Given the description of an element on the screen output the (x, y) to click on. 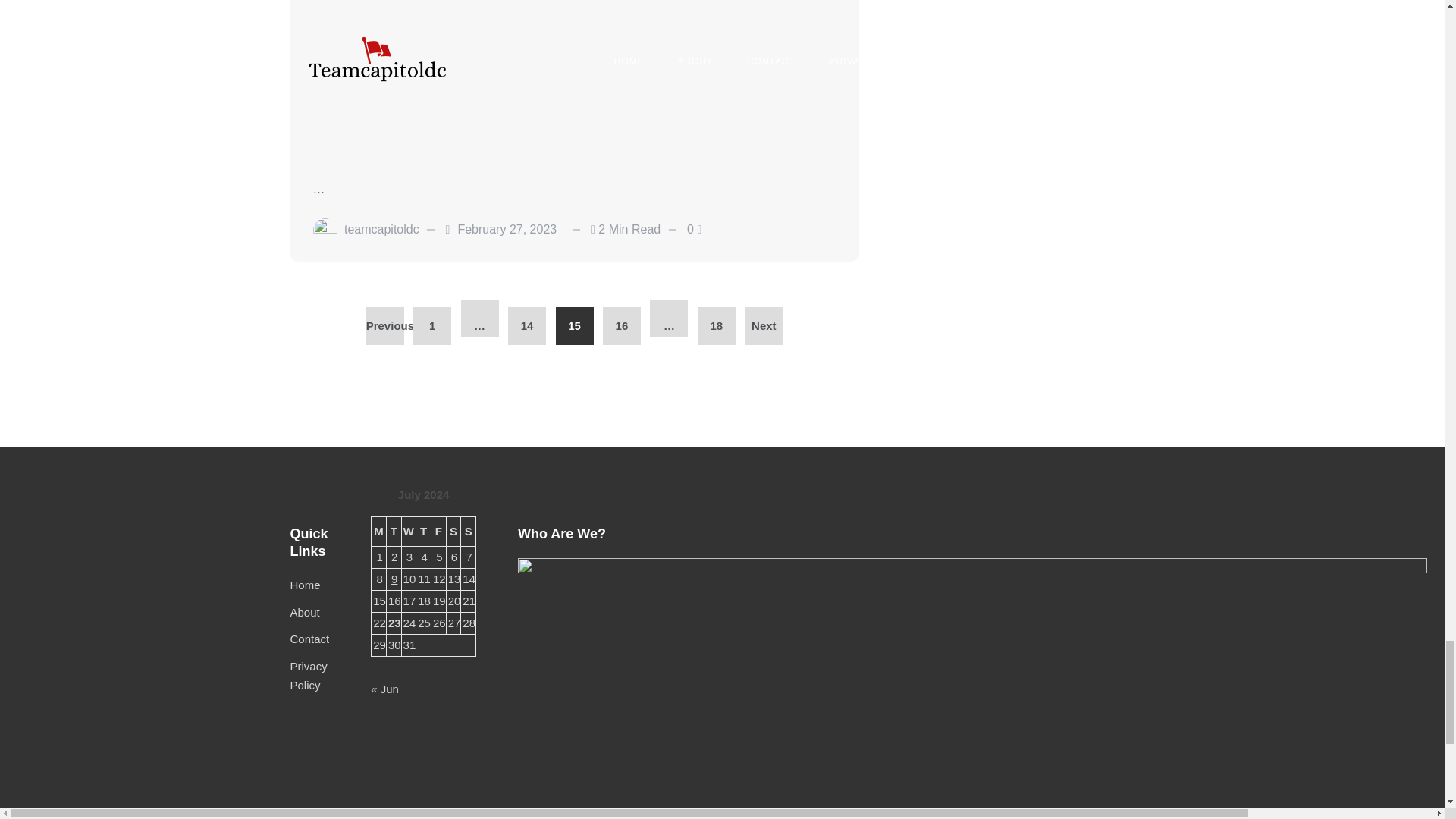
Friday (437, 531)
Sunday (468, 531)
Saturday (453, 531)
Thursday (423, 531)
Tuesday (393, 531)
Wednesday (408, 531)
Monday (379, 531)
